Given the description of an element on the screen output the (x, y) to click on. 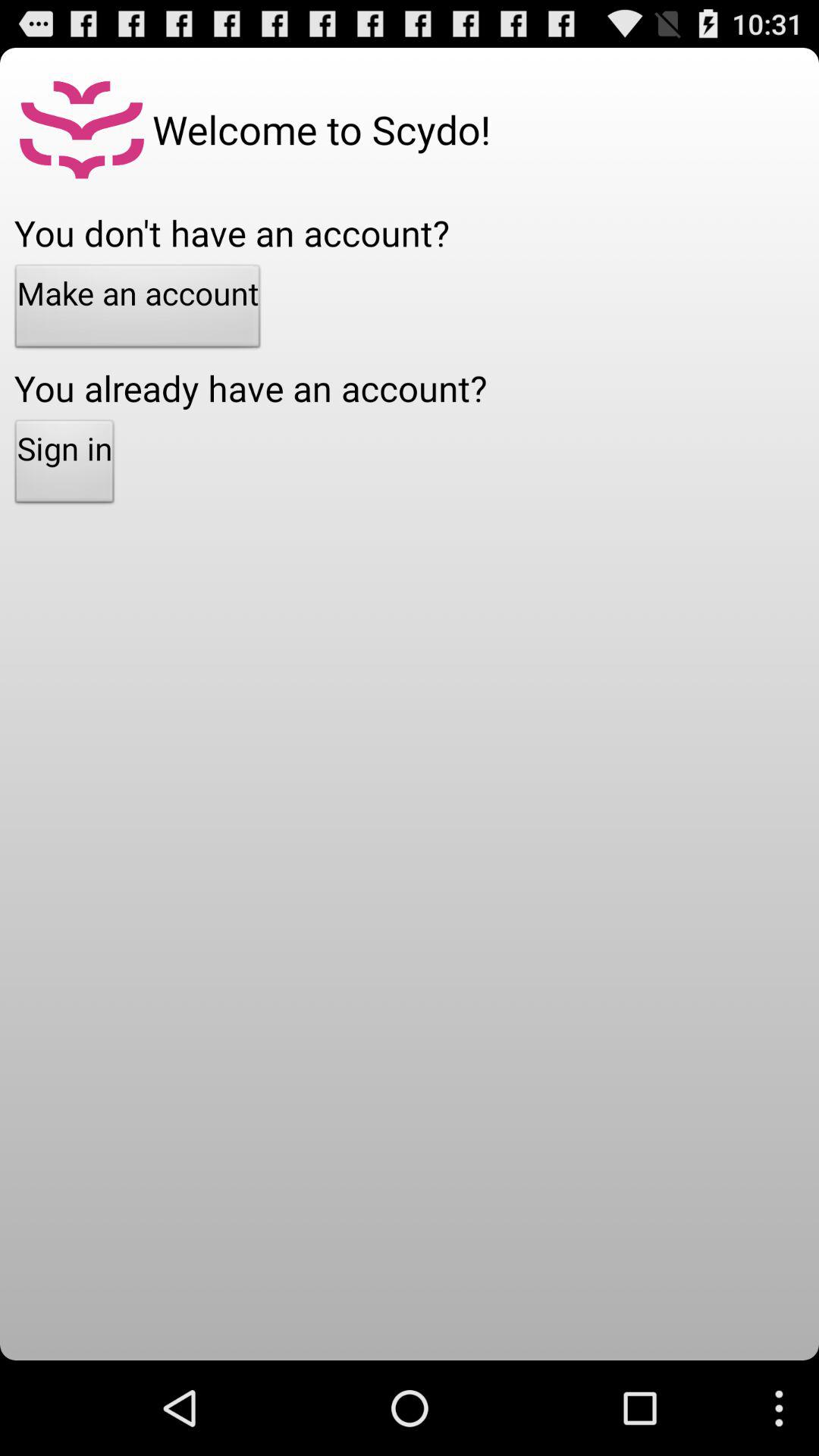
press sign in (64, 465)
